Given the description of an element on the screen output the (x, y) to click on. 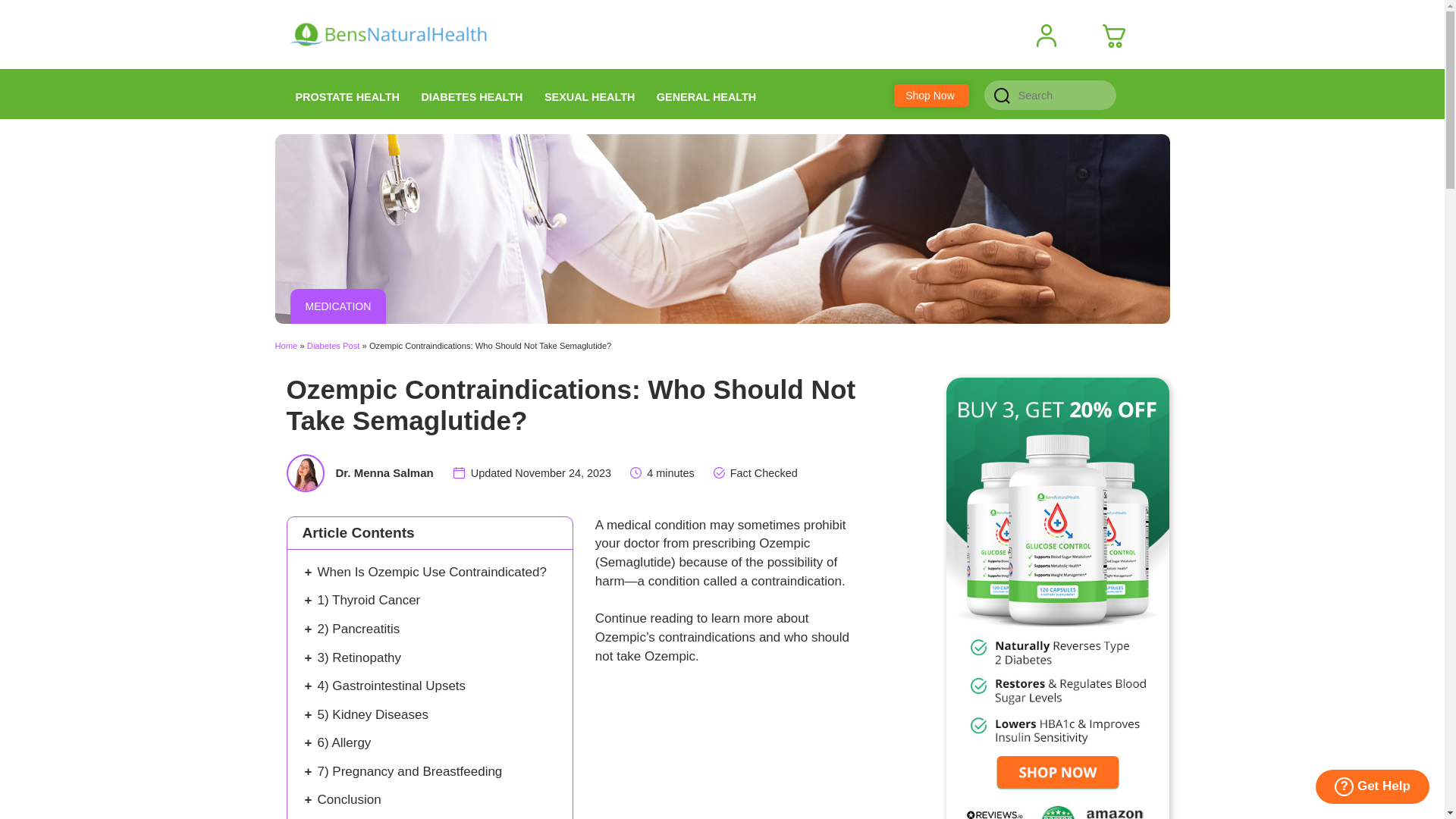
Account (1053, 35)
Home (286, 345)
GENERAL HEALTH (706, 93)
Dr. Menna Salman (383, 472)
Conclusion (348, 799)
DIABETES HEALTH (471, 93)
PROSTATE HEALTH (347, 93)
My Cart (1118, 35)
SEXUAL HEALTH (589, 93)
Shop Now (930, 95)
